Given the description of an element on the screen output the (x, y) to click on. 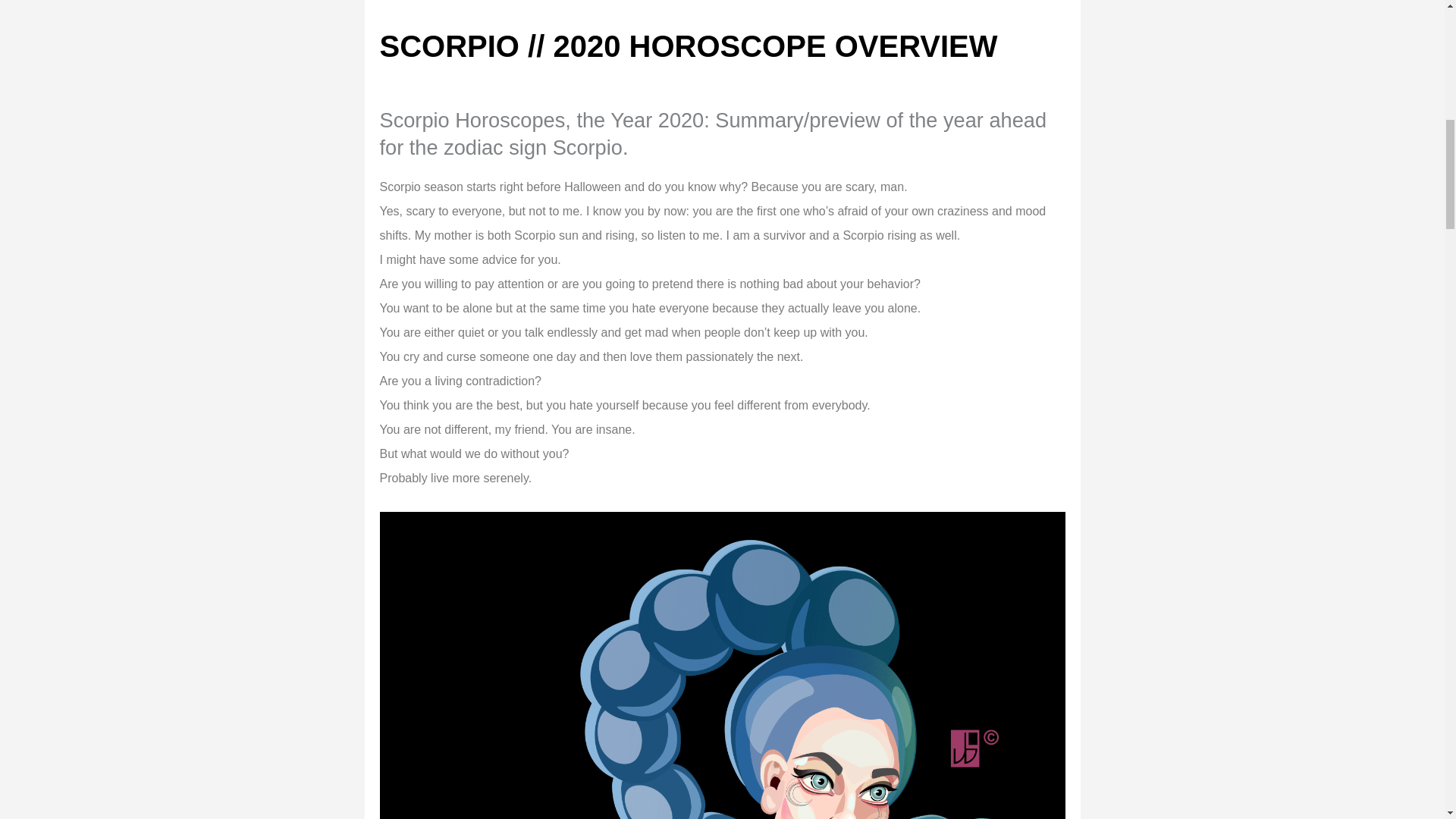
by Emma Onesti (497, 7)
